Given the description of an element on the screen output the (x, y) to click on. 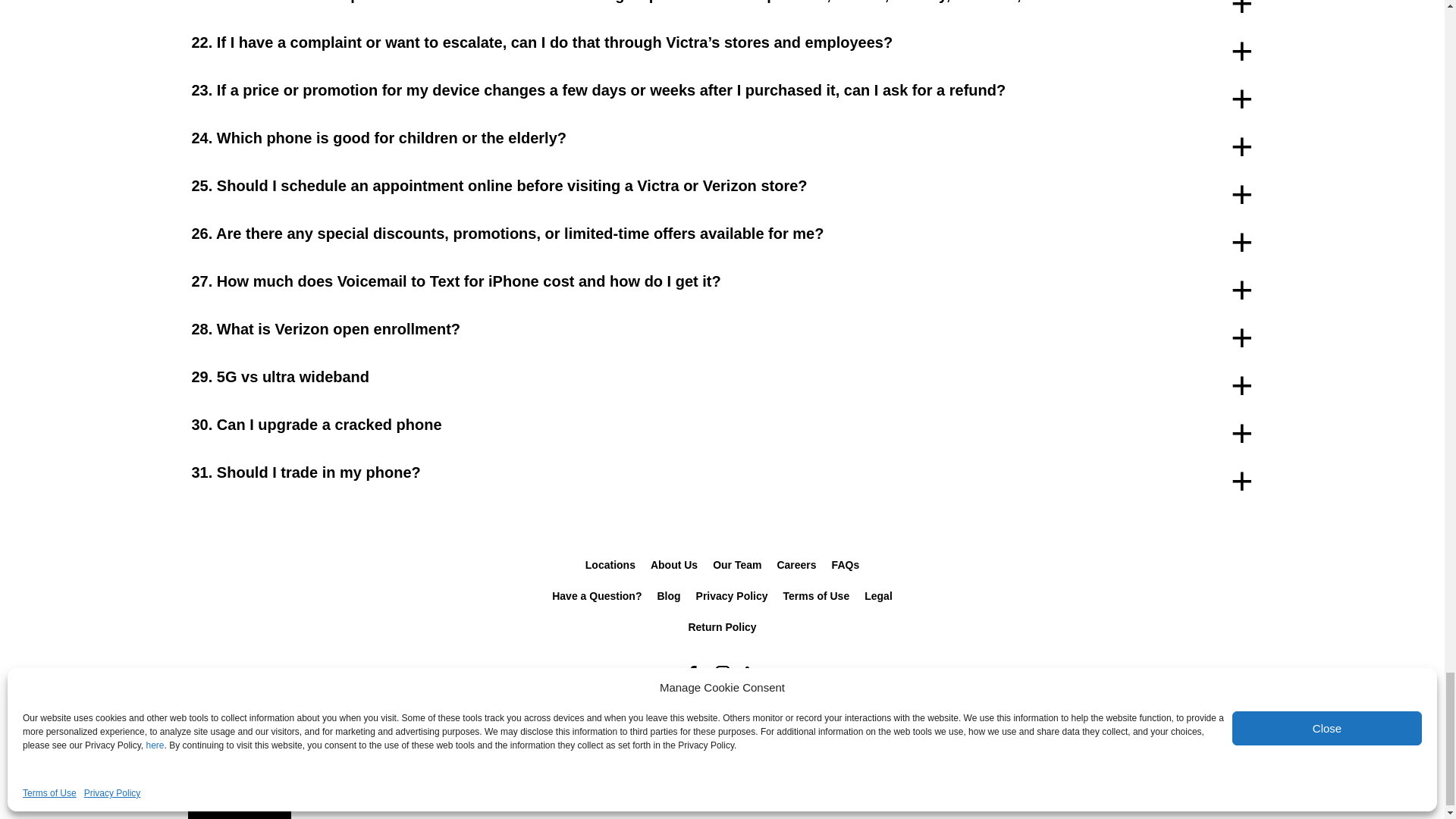
Facebook (691, 673)
Linkedin (751, 673)
Instagram (721, 673)
